Given the description of an element on the screen output the (x, y) to click on. 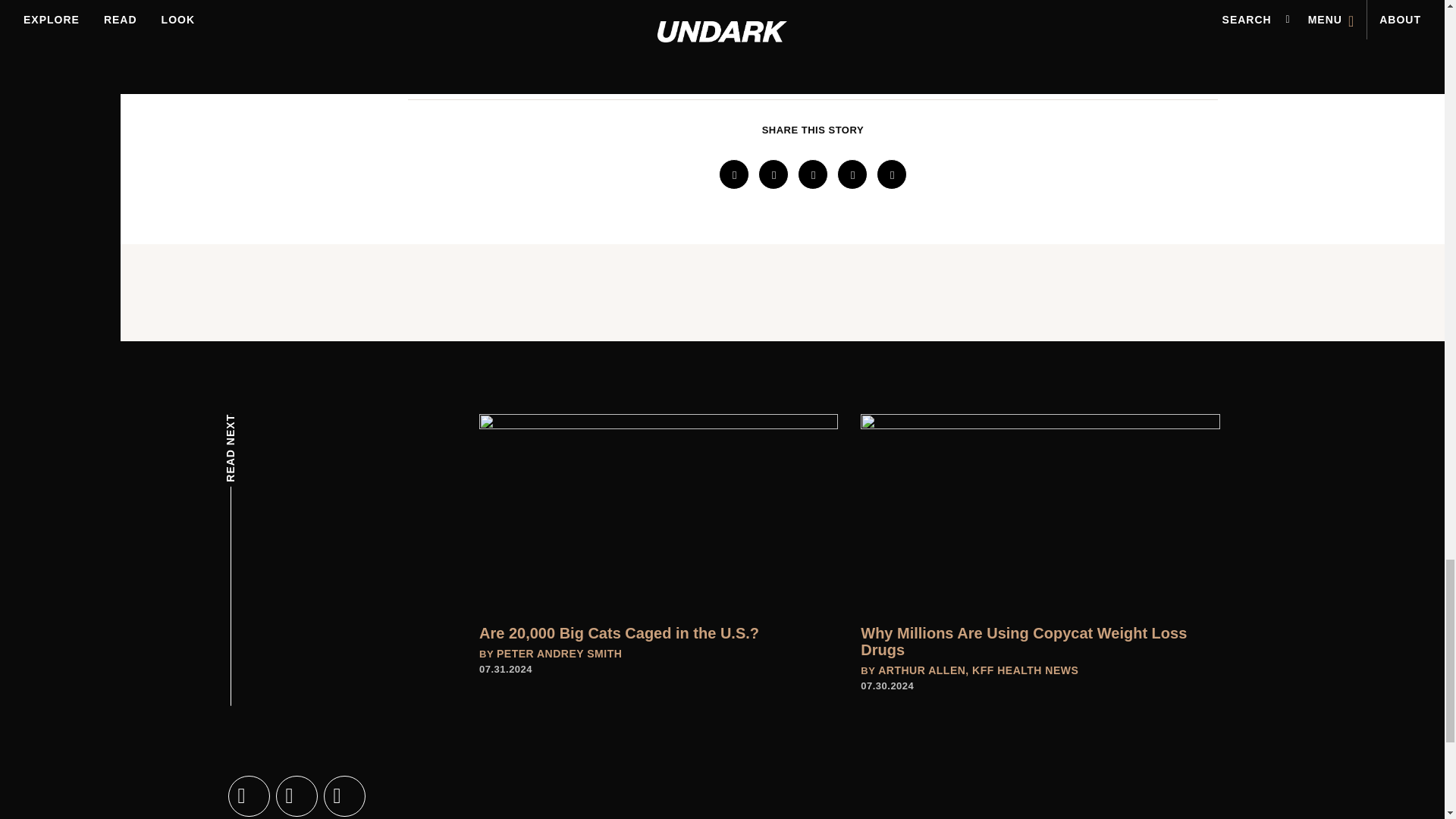
Click to share on FlipBoard (852, 173)
Click to share on Pocket (891, 173)
Click to share on Reddit (812, 173)
Click to share on Facebook (734, 173)
Click to share on Twitter (773, 173)
